Given the description of an element on the screen output the (x, y) to click on. 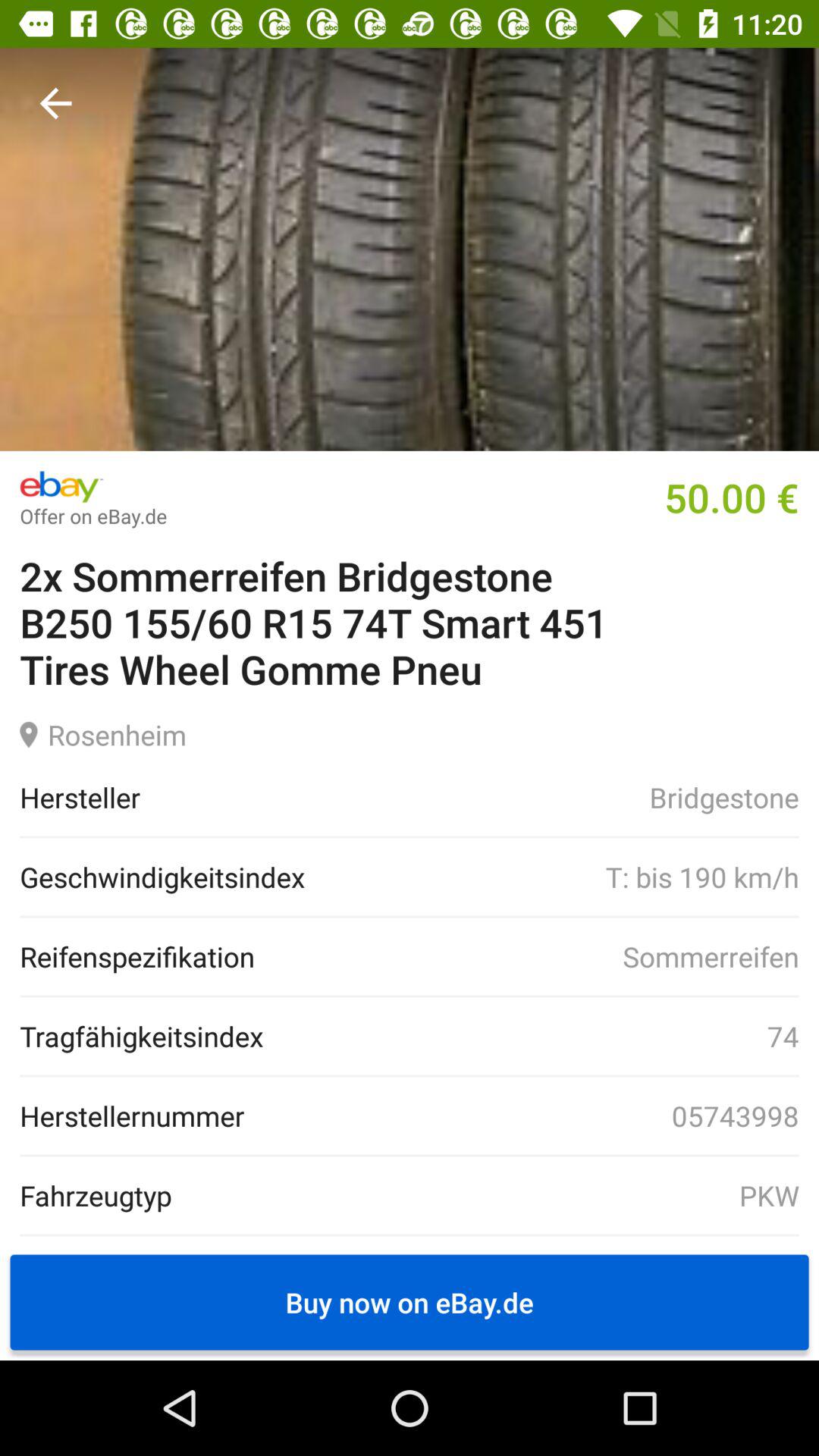
turn off item at the top left corner (55, 103)
